Given the description of an element on the screen output the (x, y) to click on. 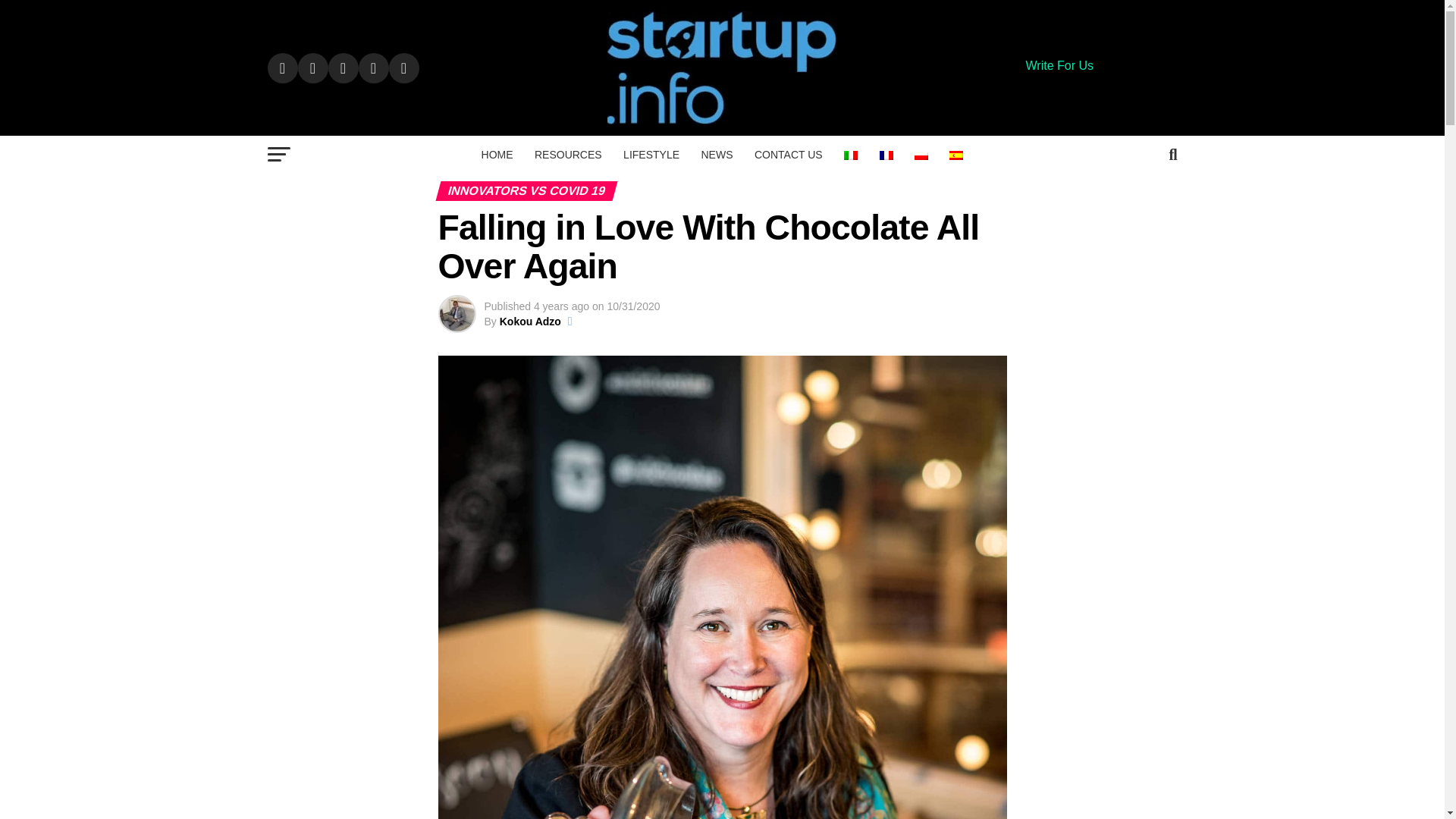
NEWS (716, 154)
Write For Us (1059, 65)
LIFESTYLE (651, 154)
RESOURCES (568, 154)
HOME (496, 154)
